Given the description of an element on the screen output the (x, y) to click on. 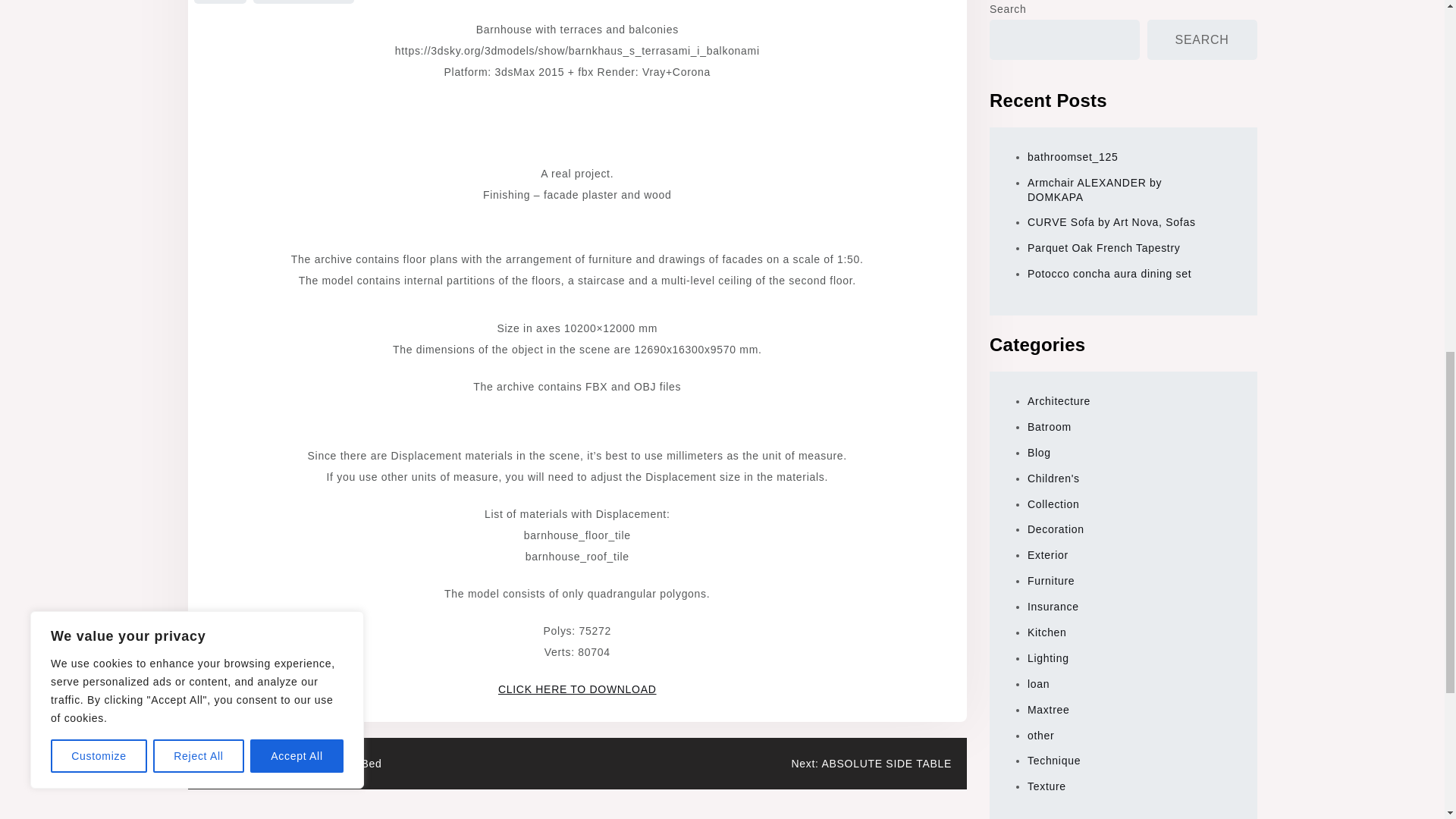
Admin (219, 2)
Next: ABSOLUTE SIDE TABLE (871, 763)
CLICK HERE TO DOWNLOAD (576, 689)
March 11, 2024 (303, 2)
Previous: Jeffriess Silk Abaca Bed (292, 763)
